Given the description of an element on the screen output the (x, y) to click on. 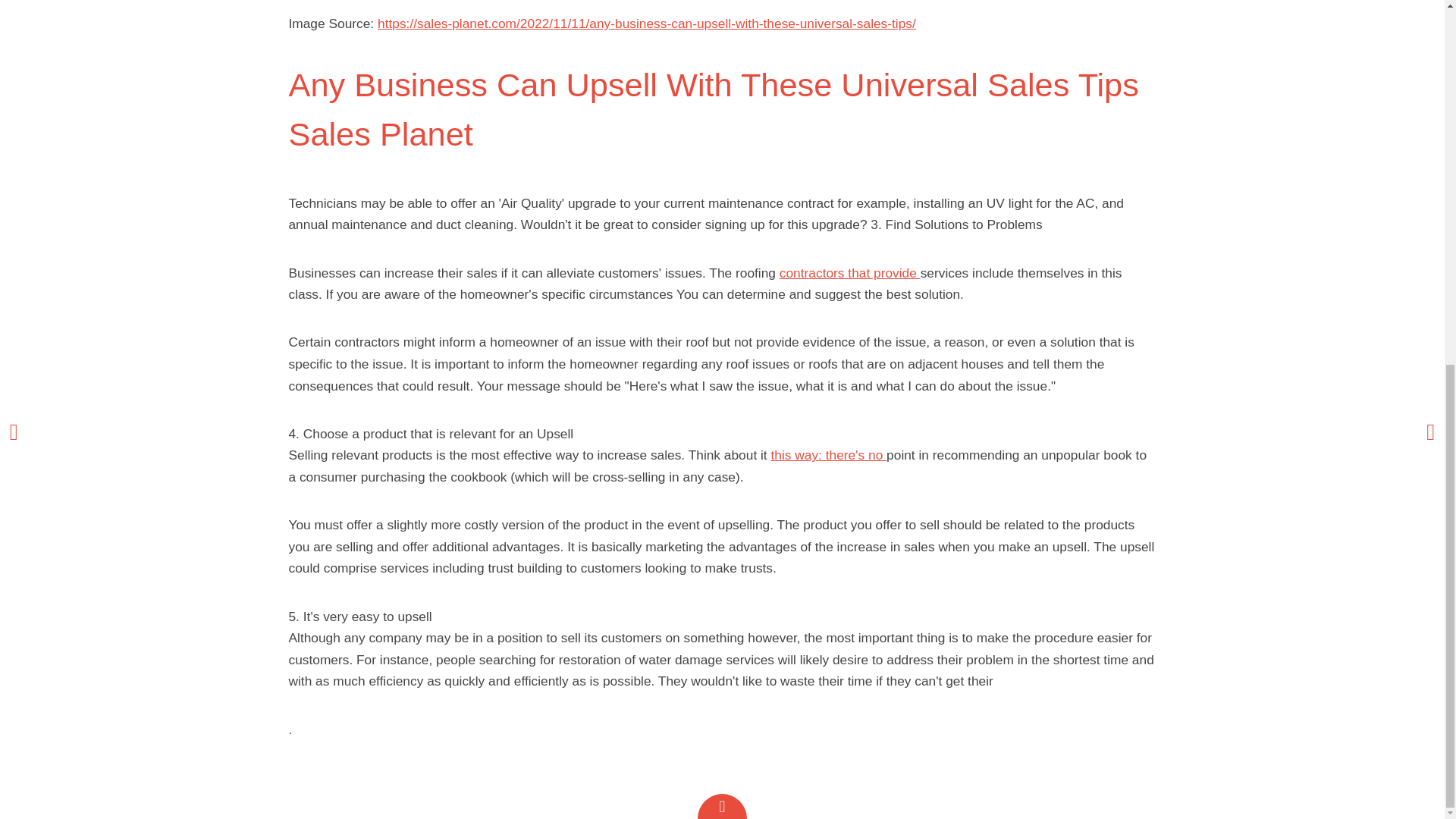
Site Map (77, 259)
TEMPLATED (1017, 227)
contractors that provide (849, 272)
this way: there's no (828, 454)
Home (69, 226)
